Given the description of an element on the screen output the (x, y) to click on. 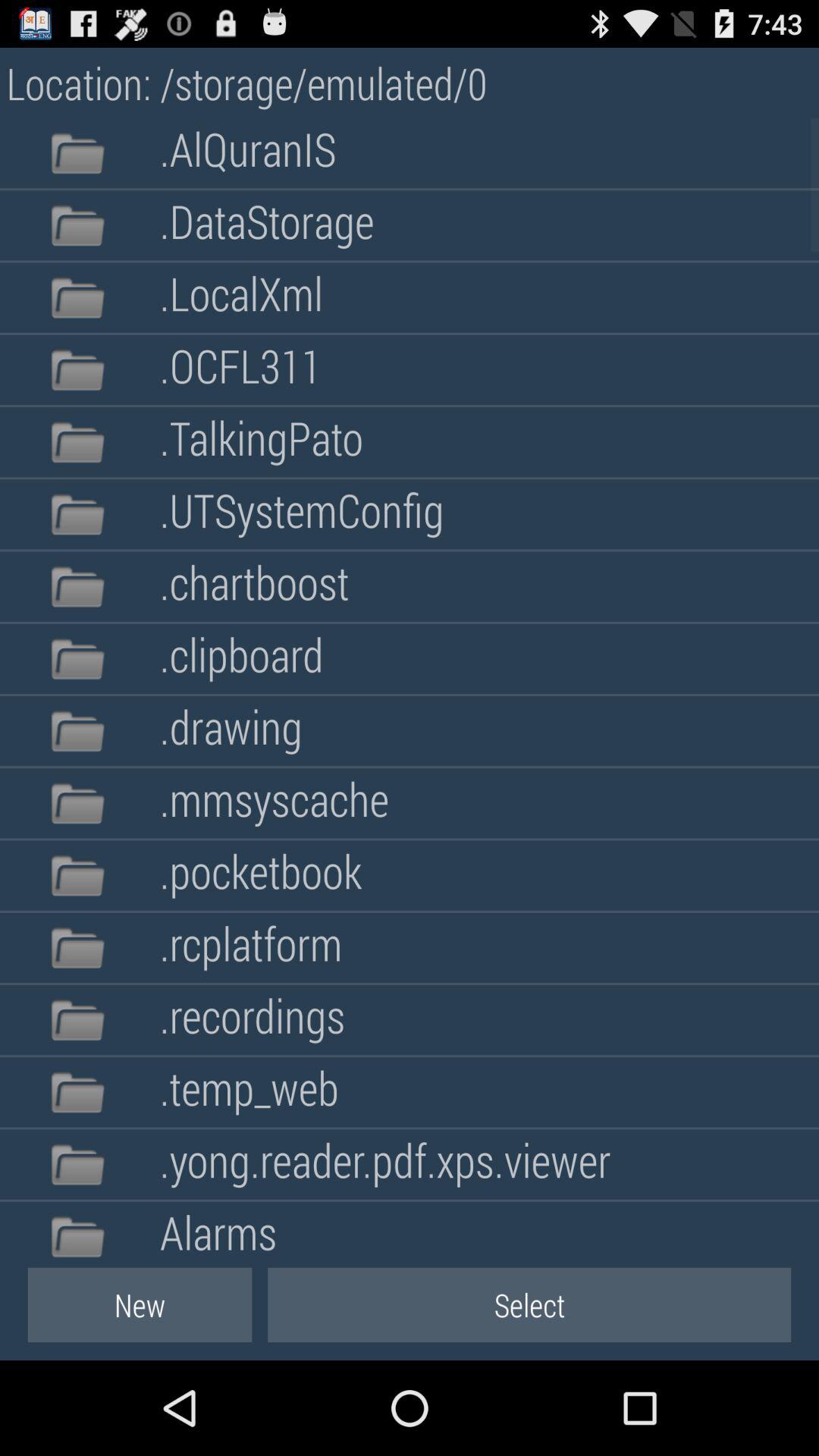
select .drawing icon (230, 731)
